Given the description of an element on the screen output the (x, y) to click on. 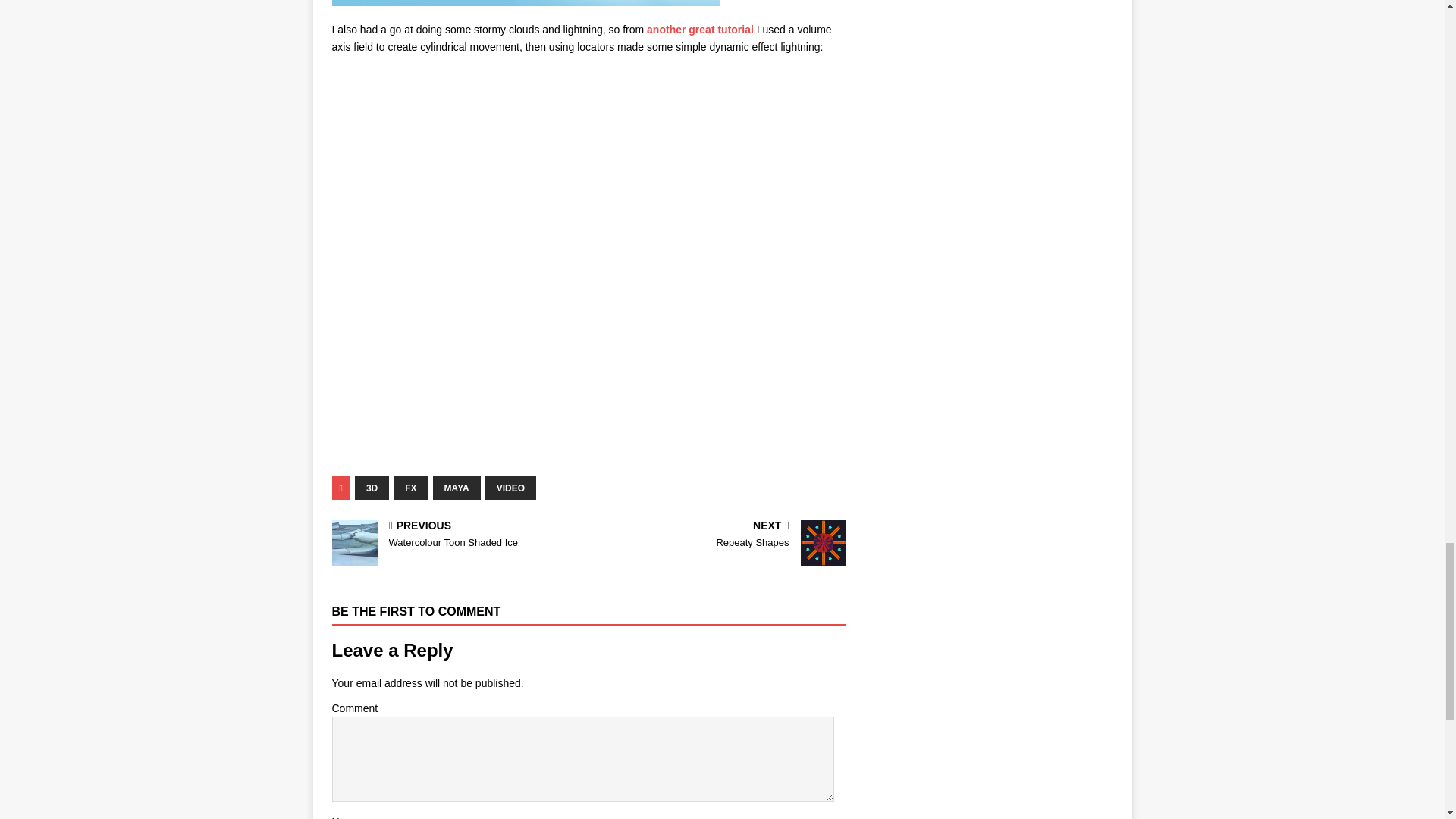
3D (371, 487)
MAYA (456, 487)
VIDEO (457, 535)
Clouds Tutorial2 (720, 535)
FX (509, 487)
another great tutorial (700, 29)
